Given the description of an element on the screen output the (x, y) to click on. 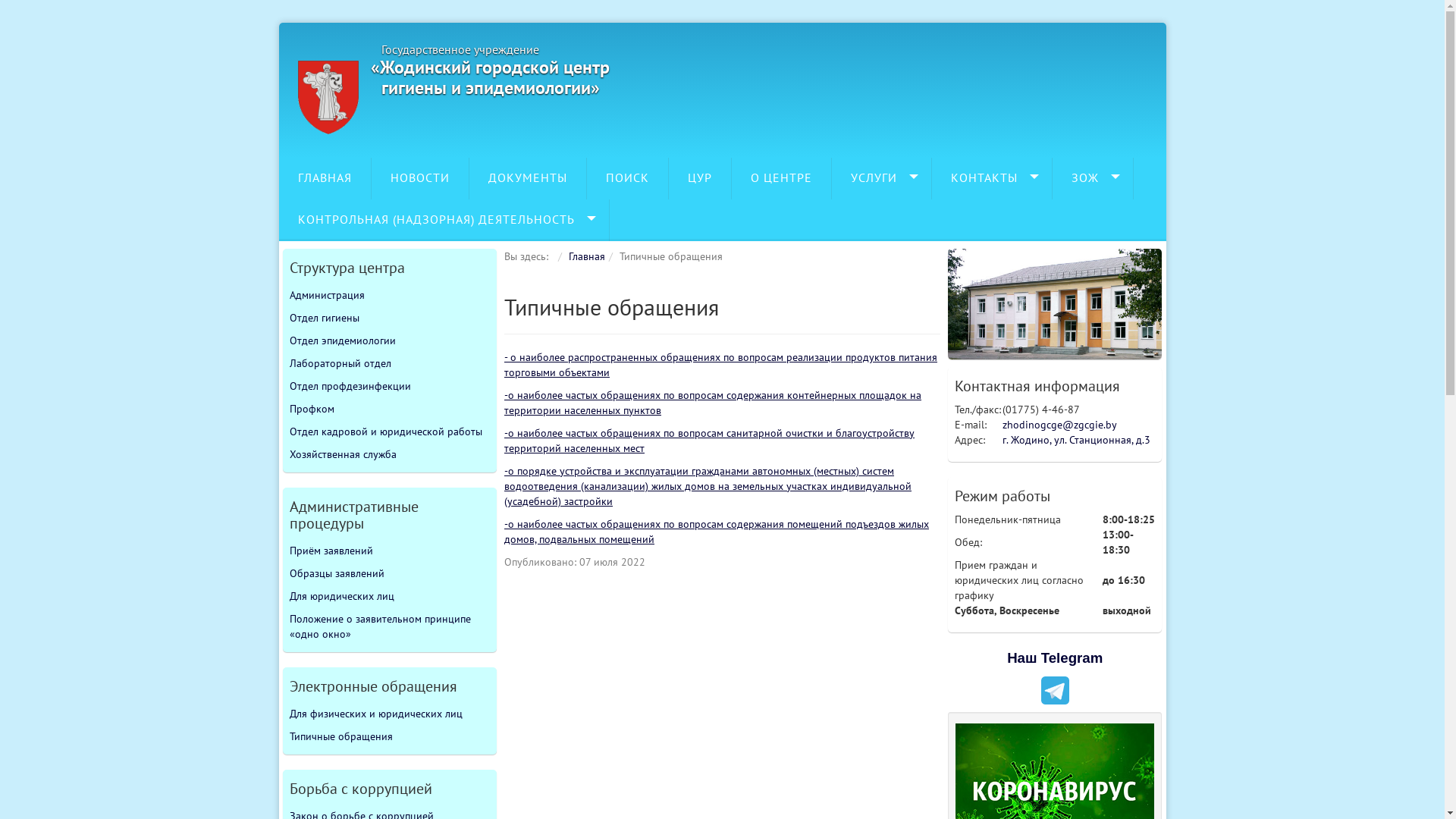
zhodinogcge@zgcgie.by Element type: text (1059, 424)
